Given the description of an element on the screen output the (x, y) to click on. 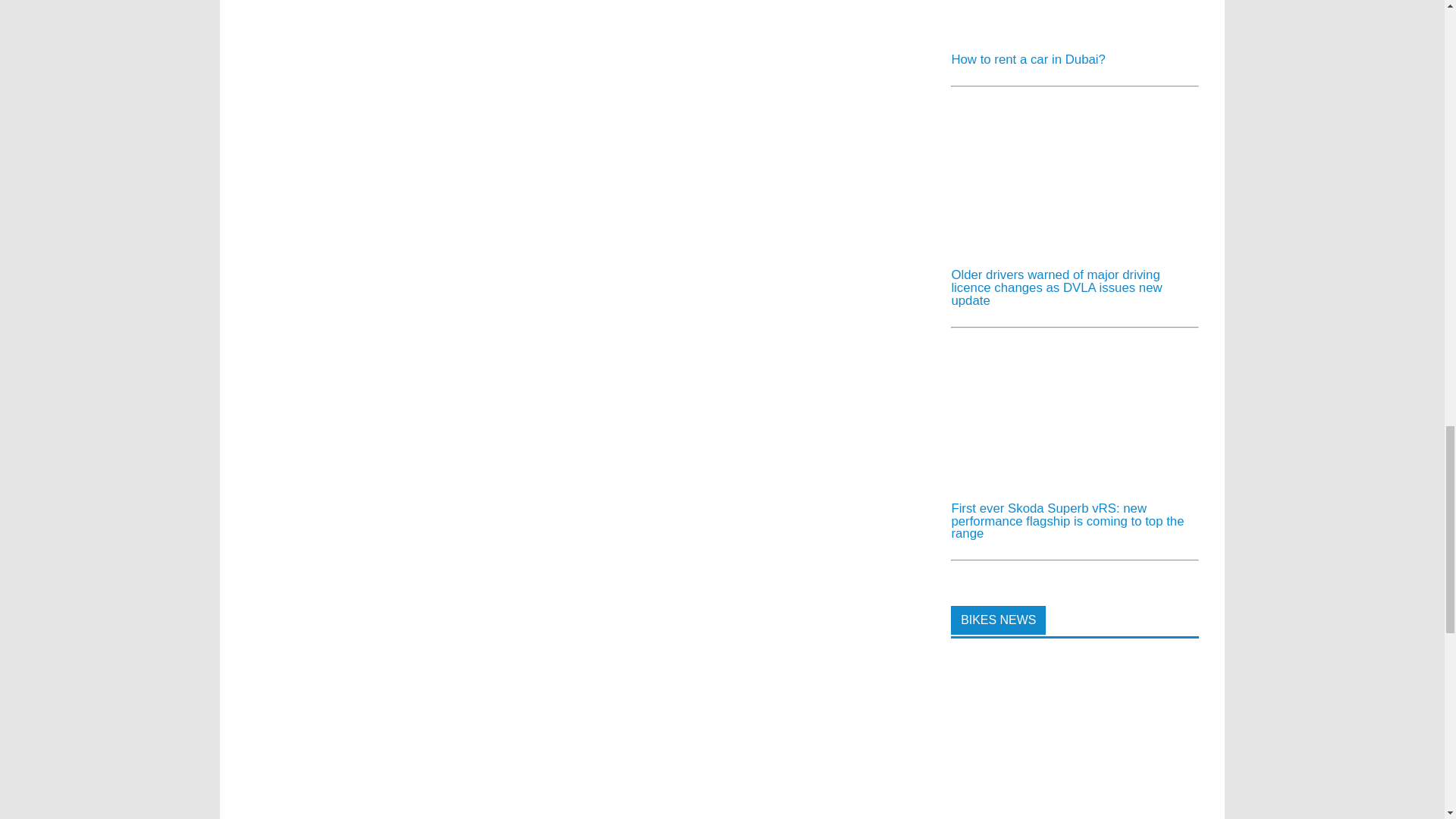
How to rent a car in Dubai? (1027, 59)
How to rent a car in Dubai? (1063, 34)
